Given the description of an element on the screen output the (x, y) to click on. 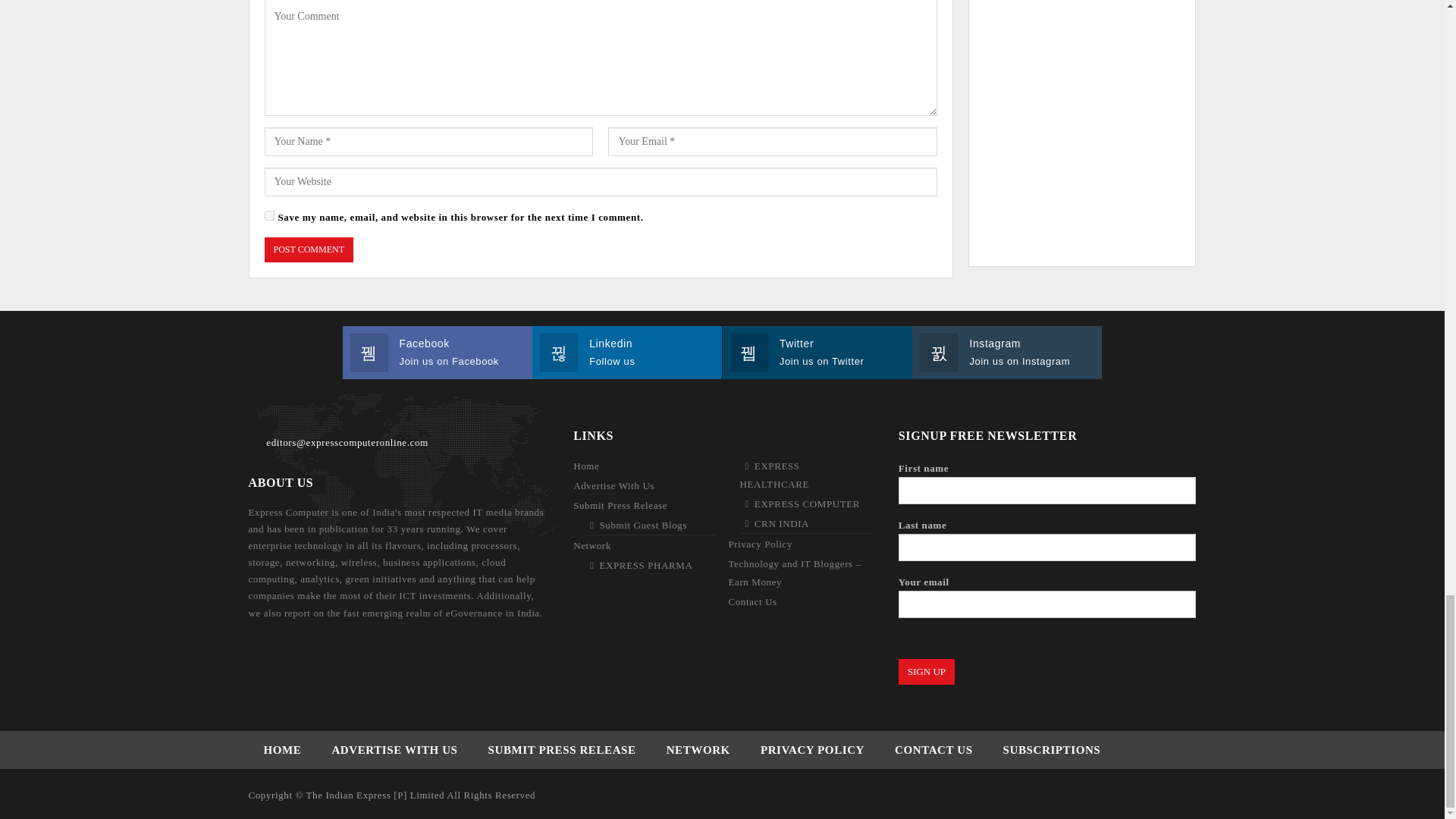
Post Comment (307, 249)
yes (268, 215)
Sign Up (926, 671)
